Given the description of an element on the screen output the (x, y) to click on. 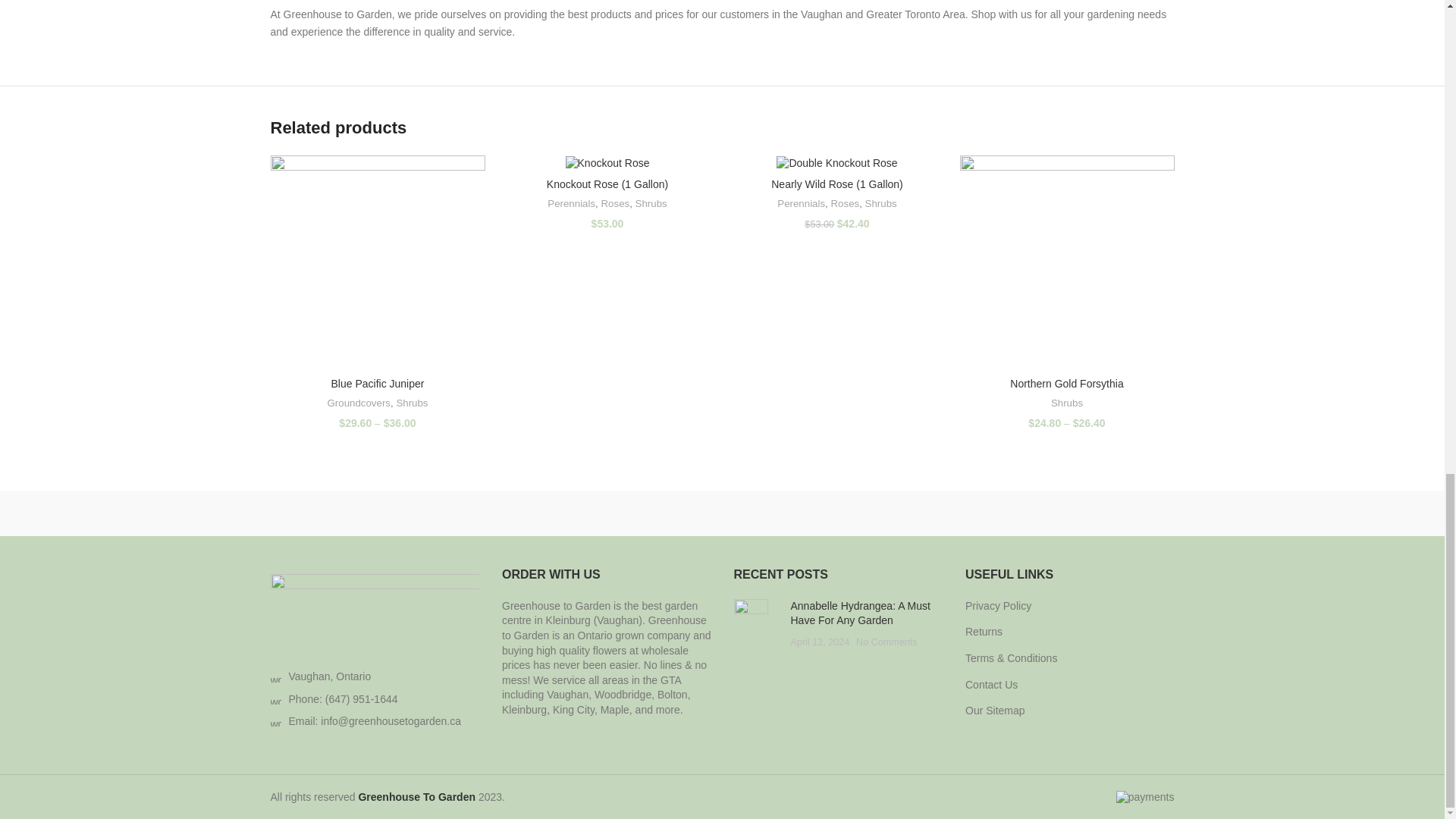
Joseph Joseph (851, 512)
Magisso (463, 512)
Louis Poulsen (593, 512)
Vitra (333, 512)
